Given the description of an element on the screen output the (x, y) to click on. 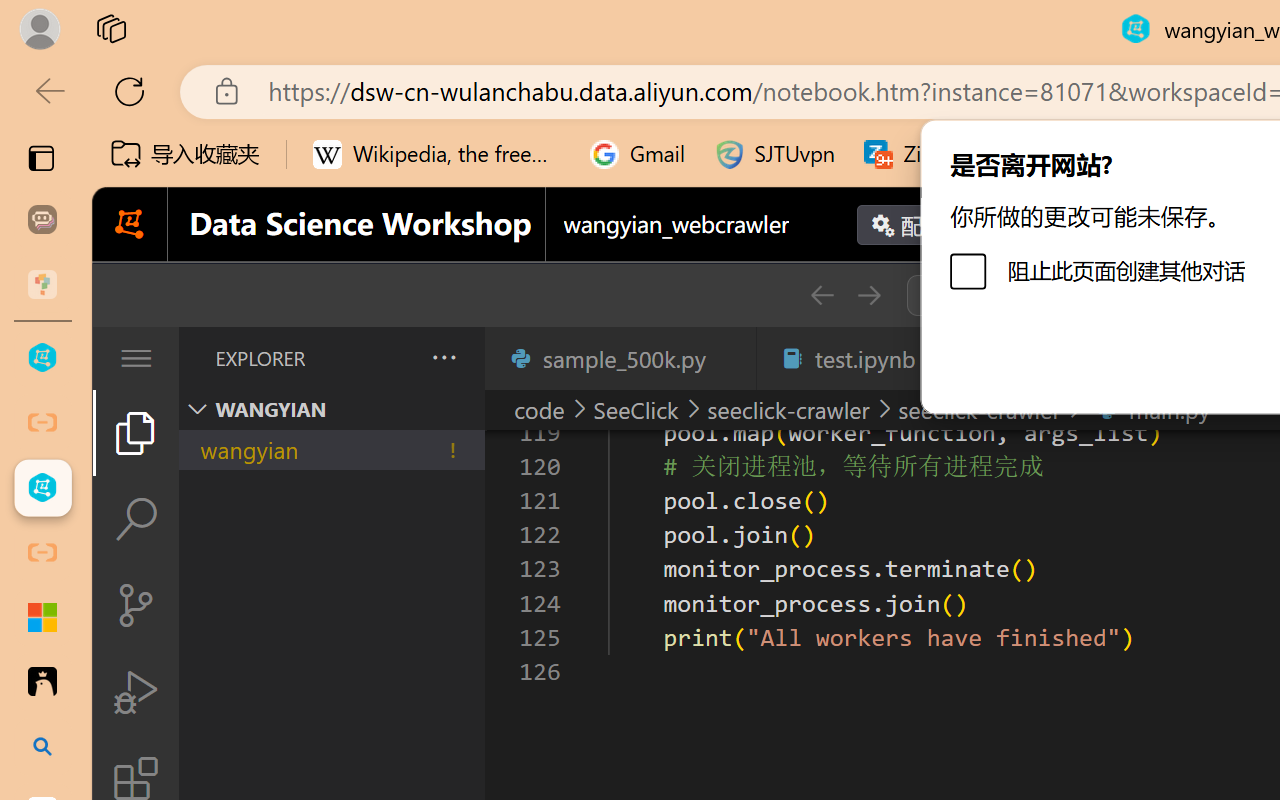
Slice (893, 111)
Wisp (987, 111)
Ion Boardroom (615, 111)
